Given the description of an element on the screen output the (x, y) to click on. 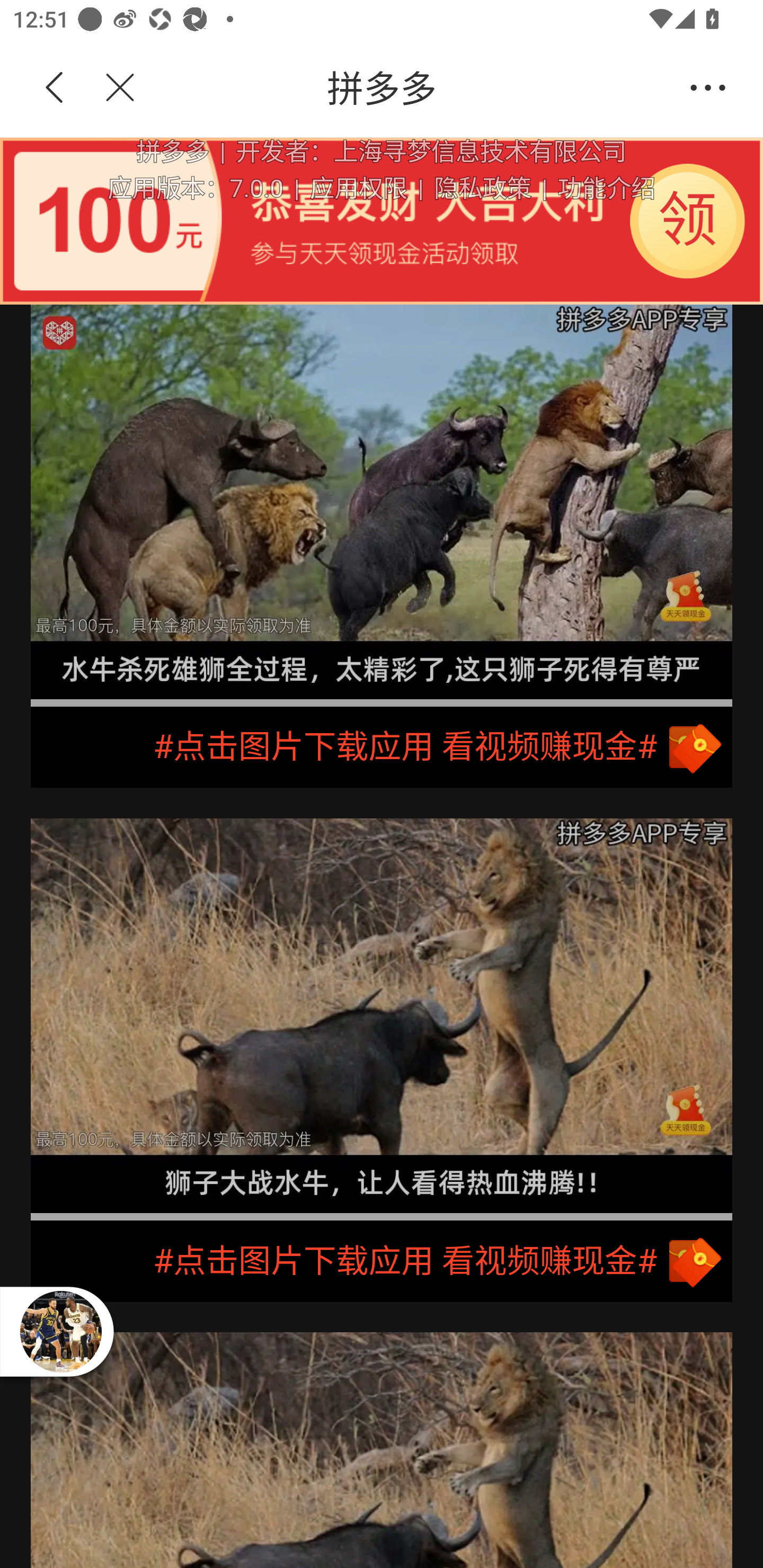
 (109, 87)
拼多多 (411, 87)
 返回 (54, 87)
 更多 (707, 87)
领 (687, 219)
#点击图片下载应用 看视频赚现金# (381, 746)
#点击图片下载应用 看视频赚现金# (381, 1261)
播放器 (60, 1331)
